Given the description of an element on the screen output the (x, y) to click on. 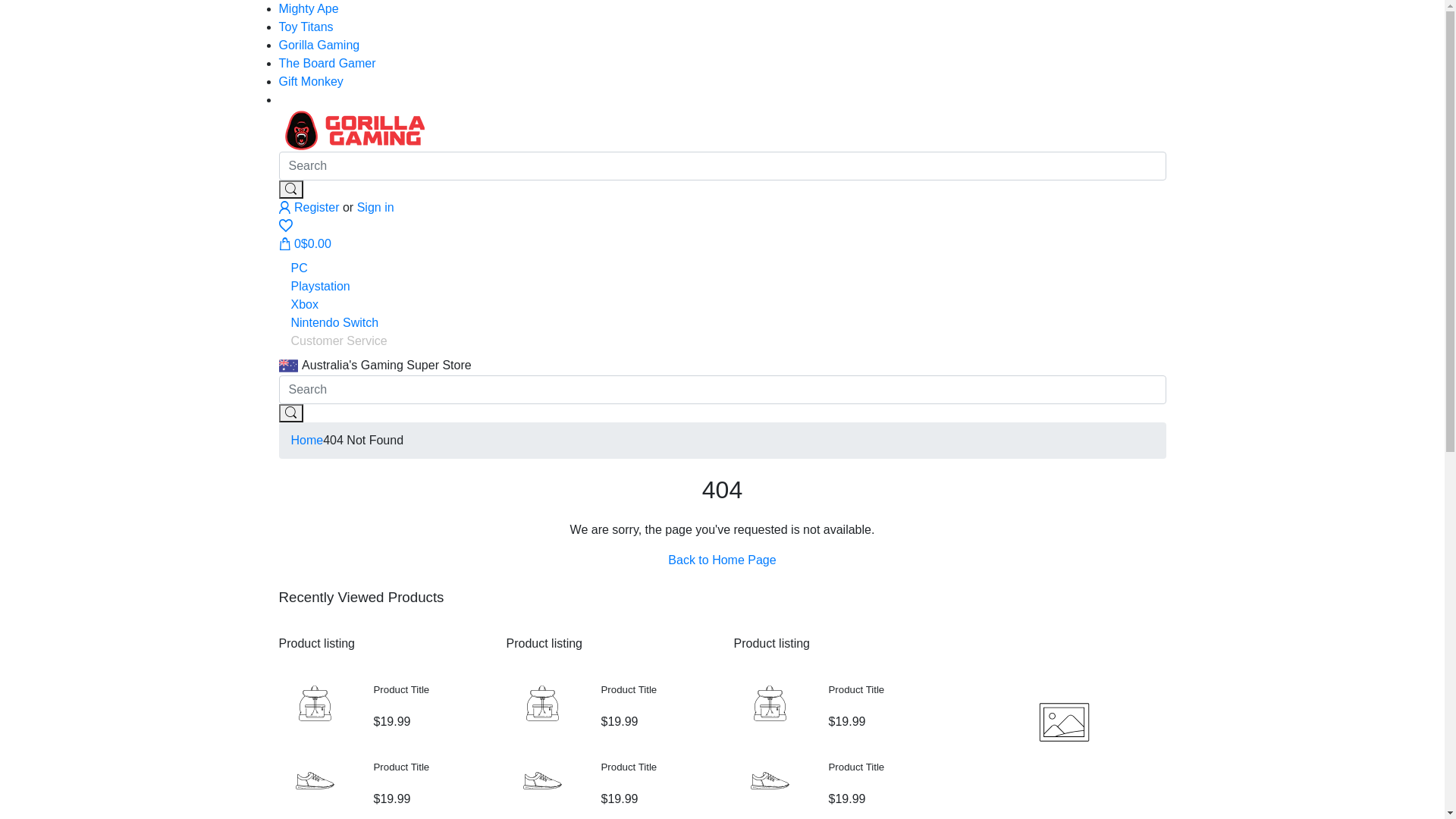
Mighty Ape Element type: text (308, 8)
PC Element type: text (299, 267)
The Board Gamer Element type: text (327, 62)
Home Element type: text (307, 439)
Customer Service Element type: text (339, 341)
Sign in Element type: text (375, 206)
Wishlist Element type: hover (285, 225)
Nintendo Switch Element type: text (335, 322)
Xbox Element type: text (304, 304)
Gift Monkey Element type: text (311, 81)
0$0.00 Element type: text (305, 243)
Playstation Element type: text (320, 285)
Back to Home Page Element type: text (721, 560)
Toy Titans Element type: text (306, 26)
Register Element type: text (310, 206)
Gorilla Gaming Element type: text (319, 44)
Gorilla Gaming AU Element type: hover (354, 128)
